Given the description of an element on the screen output the (x, y) to click on. 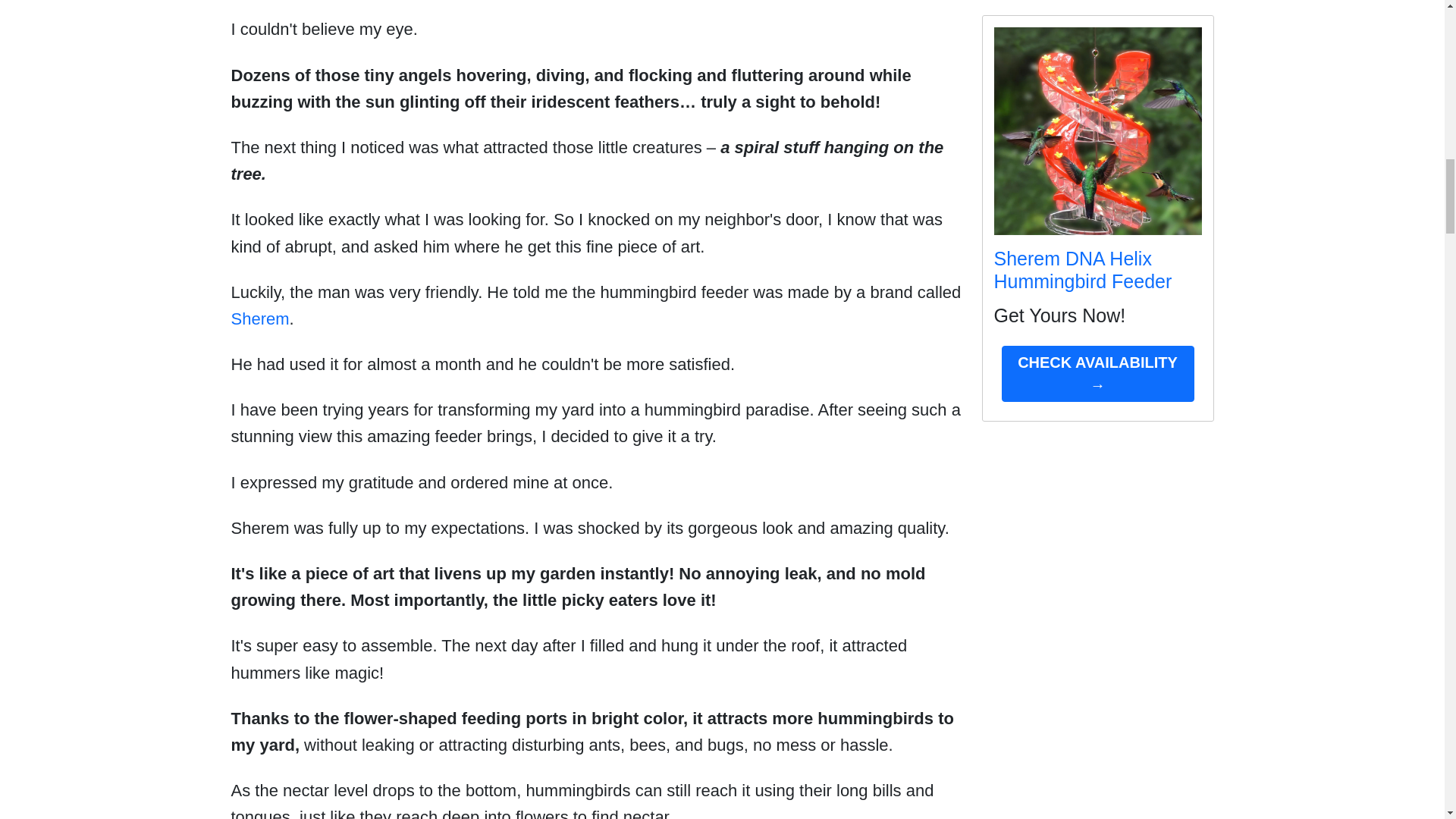
Sherem (259, 318)
